Given the description of an element on the screen output the (x, y) to click on. 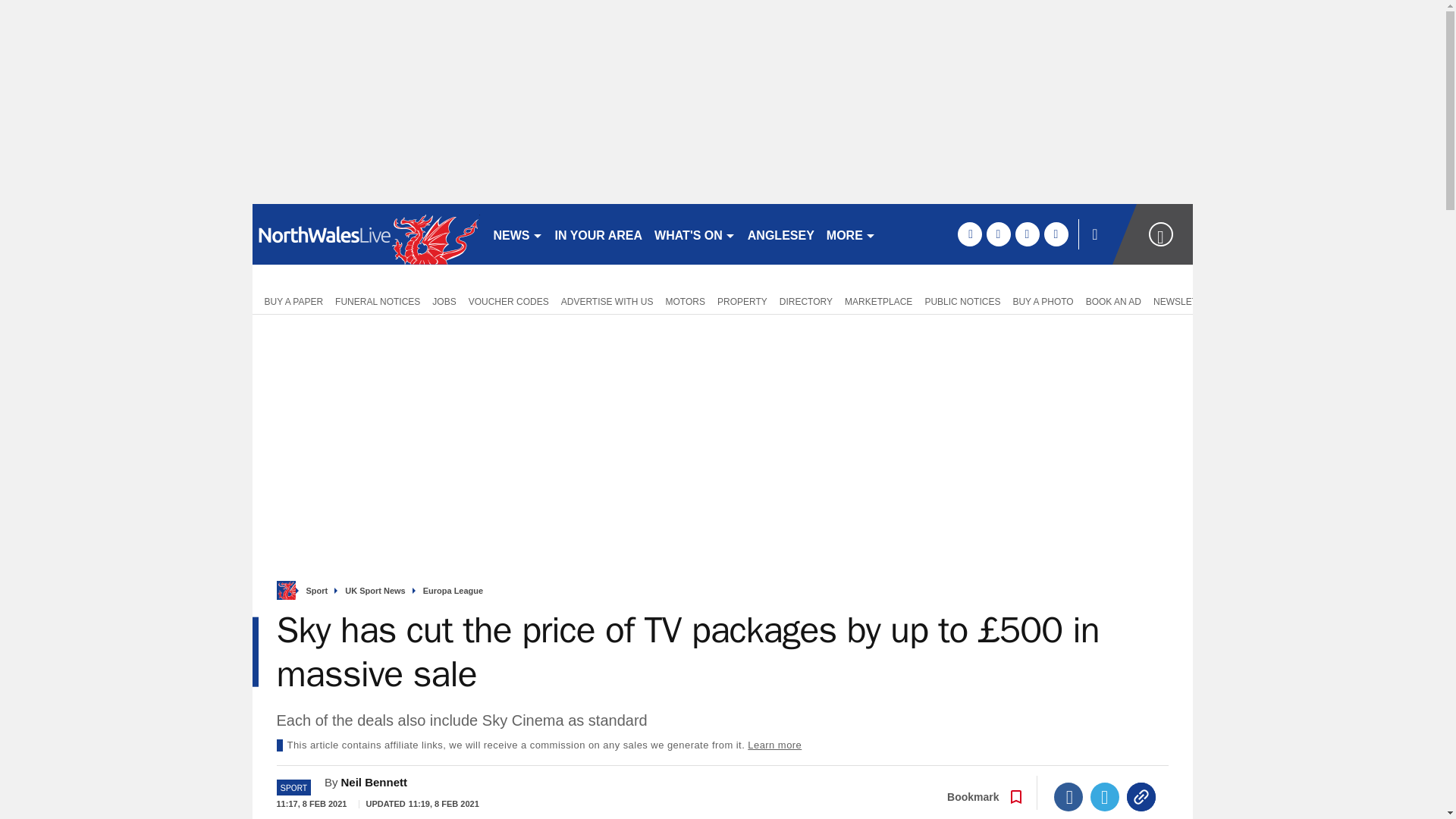
ANGLESEY (781, 233)
BUY A PAPER (290, 300)
MOTORS (685, 300)
Facebook (1068, 796)
pinterest (1026, 233)
VOUCHER CODES (508, 300)
PROPERTY (742, 300)
FUNERAL NOTICES (377, 300)
facebook (968, 233)
northwales (365, 233)
